Given the description of an element on the screen output the (x, y) to click on. 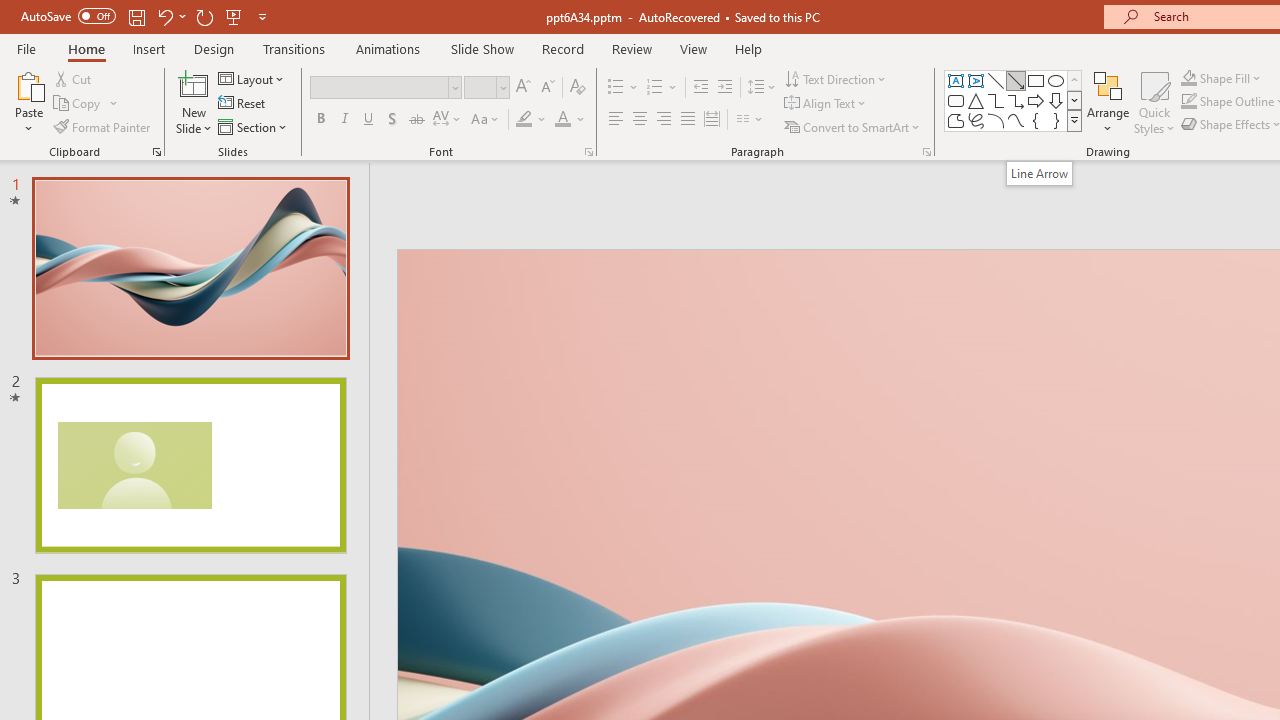
Arc (995, 120)
Font Color (562, 119)
Center (639, 119)
Text Highlight Color (524, 119)
Strikethrough (416, 119)
Freeform: Shape (955, 120)
Line (995, 80)
Shadow (392, 119)
Class: NetUIImage (1075, 120)
Font... (588, 151)
Arrow: Right (1035, 100)
Cut (73, 78)
Bullets (616, 87)
